Given the description of an element on the screen output the (x, y) to click on. 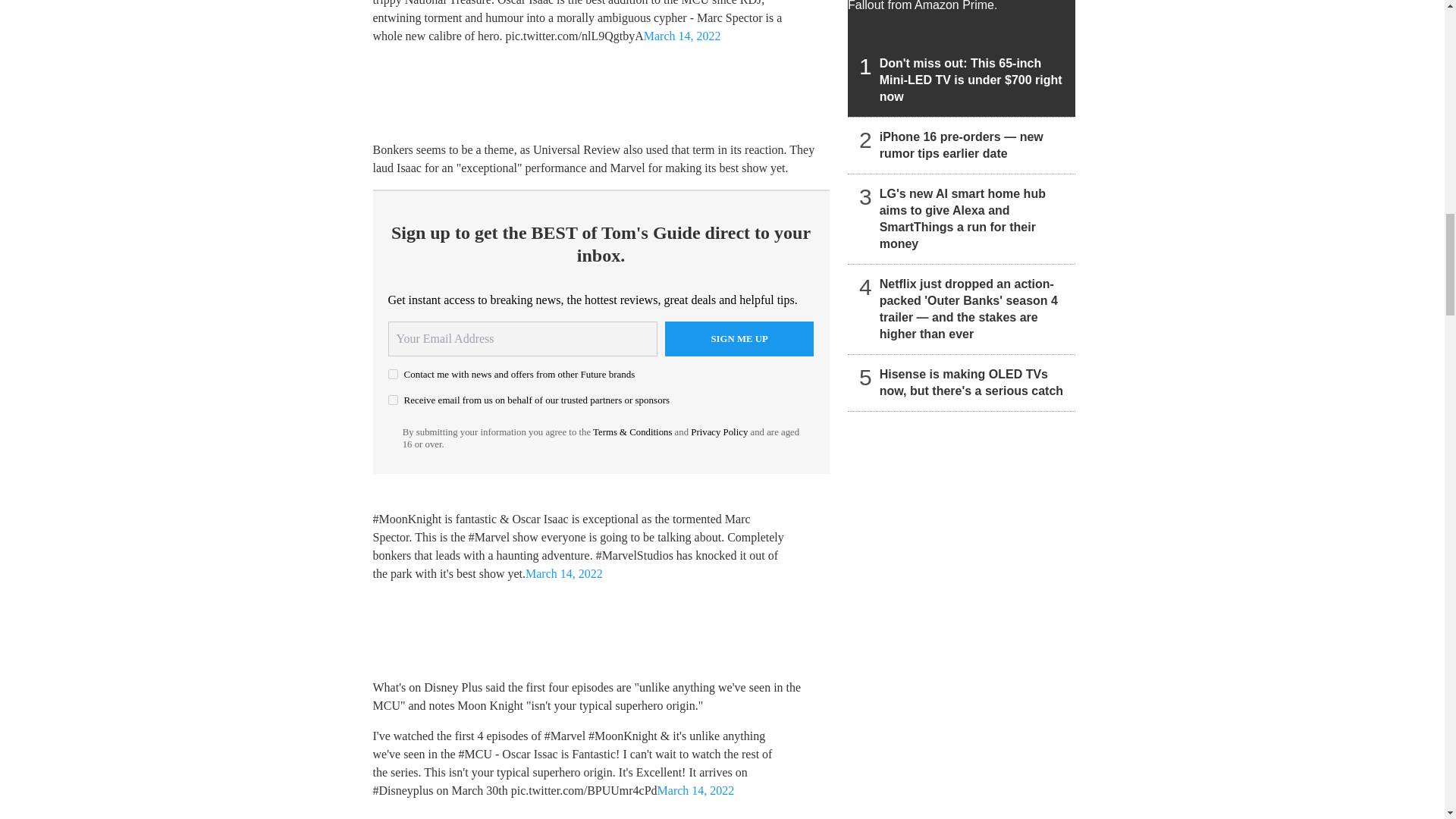
on (392, 374)
on (392, 398)
Sign me up (739, 338)
